Given the description of an element on the screen output the (x, y) to click on. 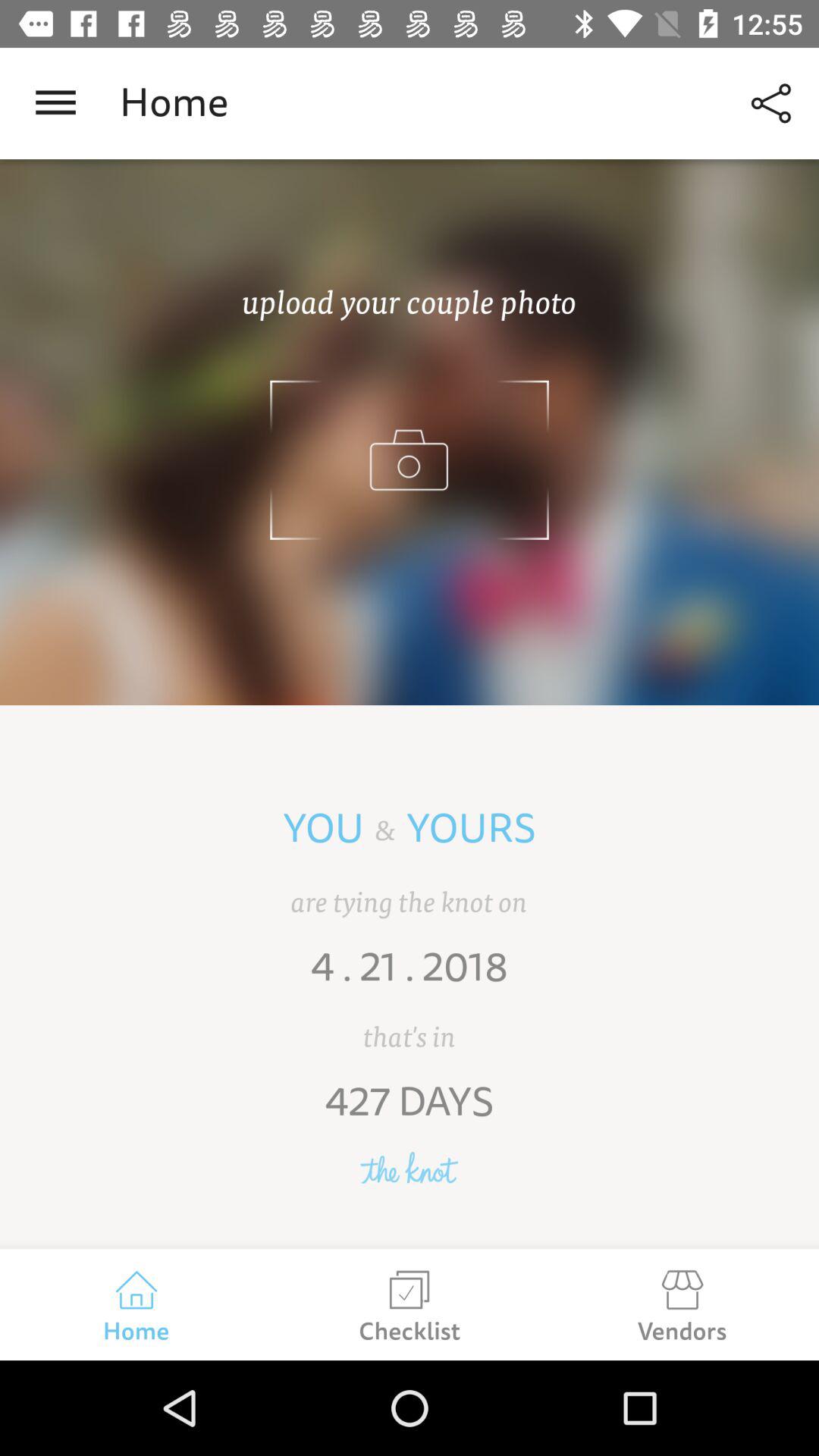
click item below that's in item (409, 1112)
